Given the description of an element on the screen output the (x, y) to click on. 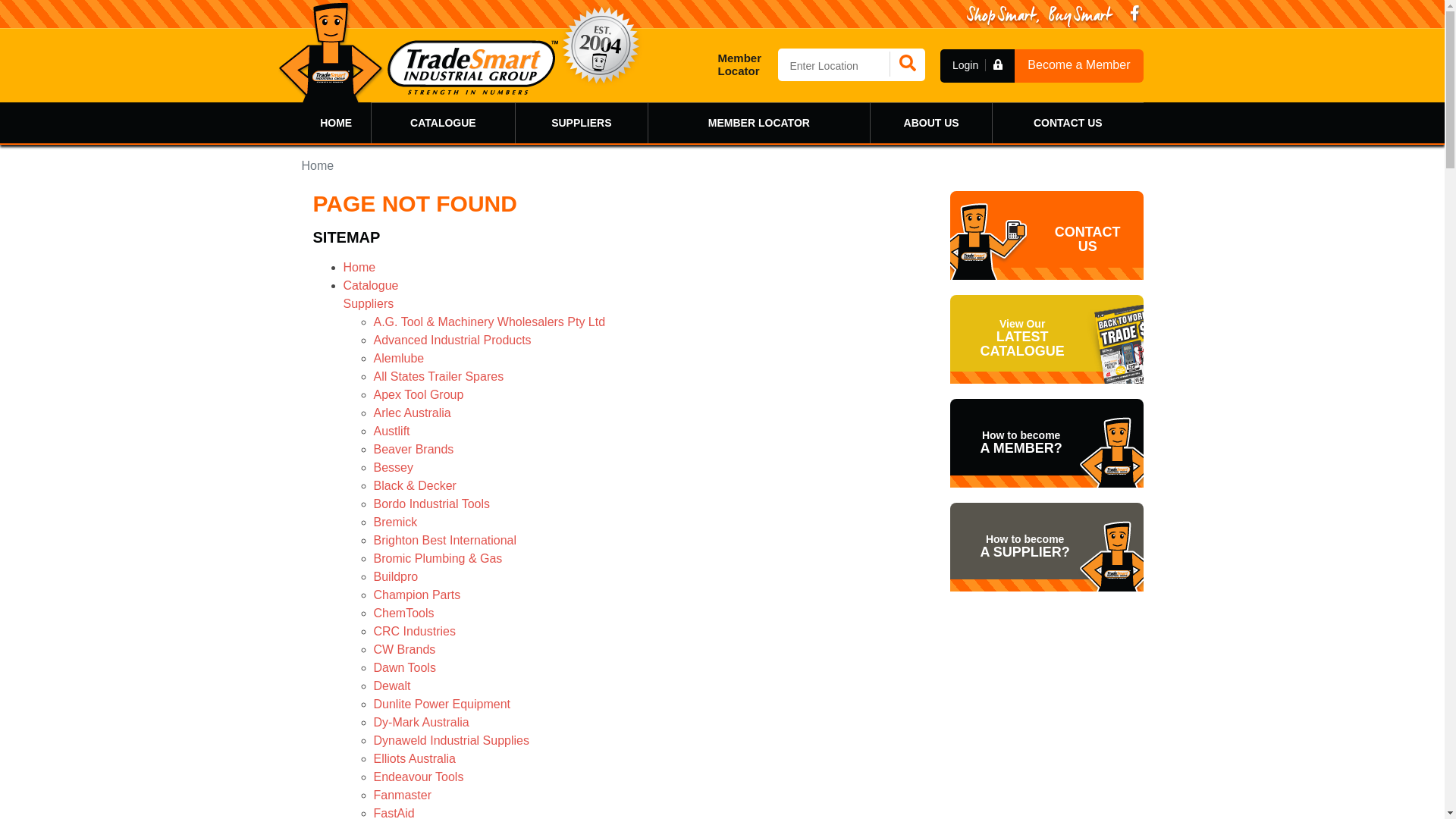
CRC Industries Element type: text (414, 630)
Elliots Australia Element type: text (414, 758)
CONTACT
US Element type: text (1045, 235)
CATALOGUE Element type: text (442, 123)
Dy-Mark Australia Element type: text (420, 721)
CW Brands Element type: text (404, 649)
Black & Decker Element type: text (414, 485)
ABOUT US Element type: text (930, 123)
Champion Parts Element type: text (416, 594)
CONTACT US Element type: text (1067, 123)
Dewalt Element type: text (391, 685)
Arlec Australia Element type: text (411, 412)
Suppliers Element type: text (367, 303)
All States Trailer Spares Element type: text (438, 376)
SUPPLIERS Element type: text (581, 123)
Bordo Industrial Tools Element type: text (431, 503)
Beaver Brands Element type: text (413, 448)
Brighton Best International Element type: text (444, 539)
View Our
LATEST
CATALOGUE Element type: text (1045, 338)
Catalogue Element type: text (370, 285)
Endeavour Tools Element type: text (418, 776)
MEMBER LOCATOR Element type: text (758, 123)
Home Element type: text (358, 266)
Bremick Element type: text (395, 521)
Buildpro Element type: text (395, 576)
Apex Tool Group Element type: text (418, 394)
ChemTools Element type: text (403, 612)
Home Element type: text (317, 165)
How to become
A SUPPLIER? Element type: text (1045, 546)
HOME Element type: text (335, 123)
Alemlube Element type: text (398, 357)
A.G. Tool & Machinery Wholesalers Pty Ltd Element type: text (489, 321)
How to become
A MEMBER? Element type: text (1045, 442)
Bromic Plumbing & Gas Element type: text (437, 558)
Become a Member Element type: text (1078, 64)
Dunlite Power Equipment Element type: text (441, 703)
TradeSmart Industrial Group - Strength in Numbers Element type: text (417, 52)
Fanmaster Element type: text (401, 794)
Advanced Industrial Products Element type: text (451, 339)
Bessey Element type: text (392, 467)
Dynaweld Industrial Supplies Element type: text (450, 740)
Austlift Element type: text (391, 430)
Login Element type: text (977, 64)
Dawn Tools Element type: text (404, 667)
